Given the description of an element on the screen output the (x, y) to click on. 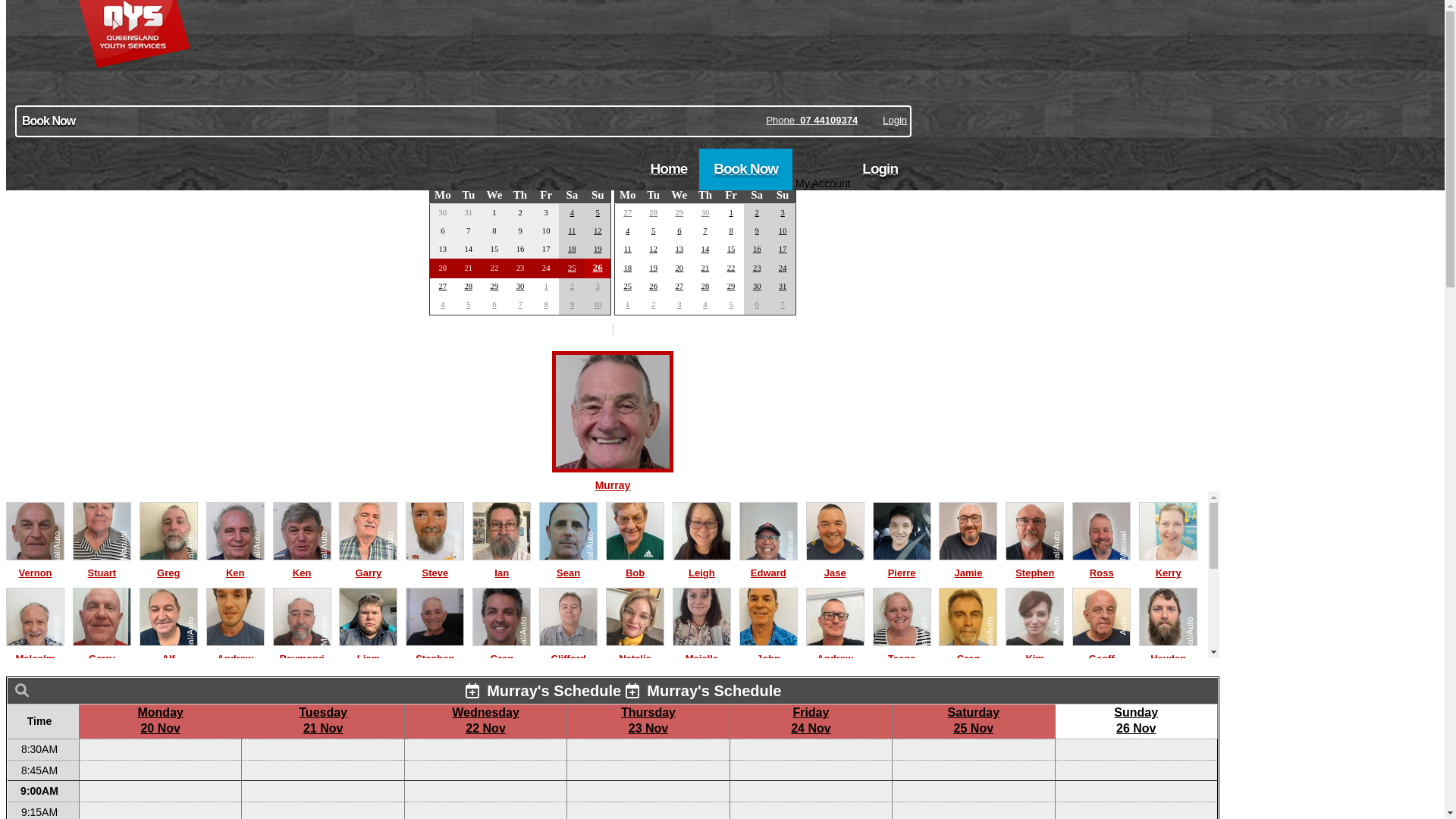
27 Element type: text (678, 286)
3 Element type: text (597, 286)
Jaxon
Auto/Manual Element type: text (568, 736)
Oct Element type: text (444, 174)
Andrew Element type: text (835, 650)
25 Element type: text (571, 267)
16 Element type: text (757, 248)
6 Element type: text (757, 304)
Alf
Manual/Auto Element type: text (168, 650)
Majella Element type: text (701, 650)
Login Element type: text (894, 120)
10 Element type: text (597, 304)
28 Element type: text (653, 212)
Malcolm
Auto/Manual Element type: text (35, 650)
Dec Element type: text (600, 174)
8 Element type: text (730, 230)
Rowena
Manual/Auto Element type: text (1101, 736)
Clifford Element type: text (568, 650)
Cameron
Auto/Manual Element type: text (434, 736)
18 Element type: text (571, 248)
Nathan
Auto/Manual Element type: text (501, 736)
15 Element type: text (731, 248)
Geoff
Auto Element type: text (1101, 650)
Nov Element type: text (629, 174)
7 Element type: text (704, 230)
Garry
Manual/Auto Element type: text (367, 565)
Ian Element type: text (501, 565)
12 Element type: text (597, 230)
30 Element type: text (705, 212)
Steve
Auto/Manual Element type: text (434, 565)
Ken
Manual/Auto Element type: text (235, 565)
Shannon Element type: text (768, 736)
Saturday
25 Nov Element type: text (973, 720)
Andrew Element type: text (235, 650)
4 Element type: text (704, 304)
Raymond
Auto/Manual Element type: text (302, 650)
14 Element type: text (705, 248)
Liam Element type: text (367, 650)
8 Element type: text (546, 304)
6 Element type: text (493, 304)
Greg
Manual/Auto Element type: text (168, 565)
9 Element type: text (757, 230)
12 Element type: text (653, 248)
Benjamin
Manual/Auto Element type: text (101, 736)
30 Element type: text (757, 286)
Phone  07 44109374 Element type: text (811, 119)
Stephen Element type: text (434, 650)
19 Element type: text (597, 248)
Tuesday
21 Nov Element type: text (322, 720)
Rachel
Manual/Auto Element type: text (1168, 736)
Sunday
26 Nov Element type: text (1135, 720)
Thursday
23 Nov Element type: text (648, 720)
Wayne
Manual/Auto Element type: text (634, 736)
19 Element type: text (653, 267)
1 Element type: text (546, 286)
18 Element type: text (627, 267)
4 Element type: text (572, 211)
21 Element type: text (705, 267)
Stephen
Manual/Auto Element type: text (1034, 565)
11 Element type: text (571, 230)
Hayden
Manual/Auto Element type: text (1168, 650)
Ross
Auto/Manual Element type: text (1101, 565)
Mark
Manual/Auto Element type: text (835, 736)
Kerry Element type: text (1168, 565)
5 Element type: text (597, 211)
29 Element type: text (731, 286)
Kim
Auto Element type: text (1034, 650)
Reg
Manual/Auto Element type: text (302, 736)
Murray
Manual/Auto Element type: text (612, 477)
Wednesday
22 Nov Element type: text (485, 720)
Ray
Manual/Auto Element type: text (168, 736)
Jase Element type: text (835, 565)
Mareeca
Manual/Auto Element type: text (1034, 736)
Vernon
Manual/Auto Element type: text (35, 565)
Wayne Element type: text (35, 736)
25 Element type: text (627, 286)
17 Element type: text (782, 248)
Sean
Manual/Auto Element type: text (568, 565)
Book Now Element type: text (463, 121)
Murray's Schedule Element type: text (543, 690)
2 Element type: text (653, 304)
Home Element type: text (668, 169)
Patrick
Manual/Auto Element type: text (901, 736)
27 Element type: text (627, 212)
23 Element type: text (757, 267)
7 Element type: text (782, 304)
11 Element type: text (627, 248)
Ken
Manual/Auto Element type: text (302, 565)
Monday
20 Nov Element type: text (159, 720)
Stuart
Auto/Manual Element type: text (101, 565)
9 Element type: text (572, 304)
5 Element type: text (468, 304)
Login Element type: text (879, 169)
26 Element type: text (597, 267)
John Element type: text (768, 650)
Pierre Element type: text (901, 565)
Greg
Manual/Auto Element type: text (501, 650)
24 Element type: text (782, 267)
31 Element type: text (782, 286)
Jamie Element type: text (967, 565)
Christine
Auto/Manual Element type: text (235, 736)
30 Element type: text (520, 286)
2 Element type: text (572, 286)
29 Element type: text (678, 212)
Bob Element type: text (634, 565)
4 Element type: text (442, 304)
28 Element type: text (705, 286)
28 Element type: text (468, 286)
1 Element type: text (627, 304)
Book Now Element type: text (745, 169)
7 Element type: text (519, 304)
Find Next Available Time Element type: text (612, 123)
29 Element type: text (494, 286)
Friday
24 Nov Element type: text (810, 720)
13 Element type: text (678, 248)
1 Element type: text (730, 212)
Natalie Element type: text (634, 650)
27 Element type: text (443, 286)
22 Element type: text (731, 267)
3 Element type: text (678, 304)
Lionel
Auto/Manual Element type: text (967, 736)
3 Element type: text (782, 212)
10 Element type: text (782, 230)
2 Element type: text (757, 212)
6 Element type: text (678, 230)
Greg
Manual/Auto Element type: text (967, 650)
Teena
Manual/Auto Element type: text (901, 650)
Garry Element type: text (101, 650)
Edward
Auto/Manual Element type: text (768, 565)
Joan
Auto/Manual Element type: text (701, 736)
26 Element type: text (653, 286)
Jan Element type: text (785, 174)
Leigh Element type: text (701, 565)
20 Element type: text (678, 267)
5 Element type: text (730, 304)
5 Element type: text (653, 230)
Claude
Manual/Auto Element type: text (367, 736)
4 Element type: text (627, 230)
